Given the description of an element on the screen output the (x, y) to click on. 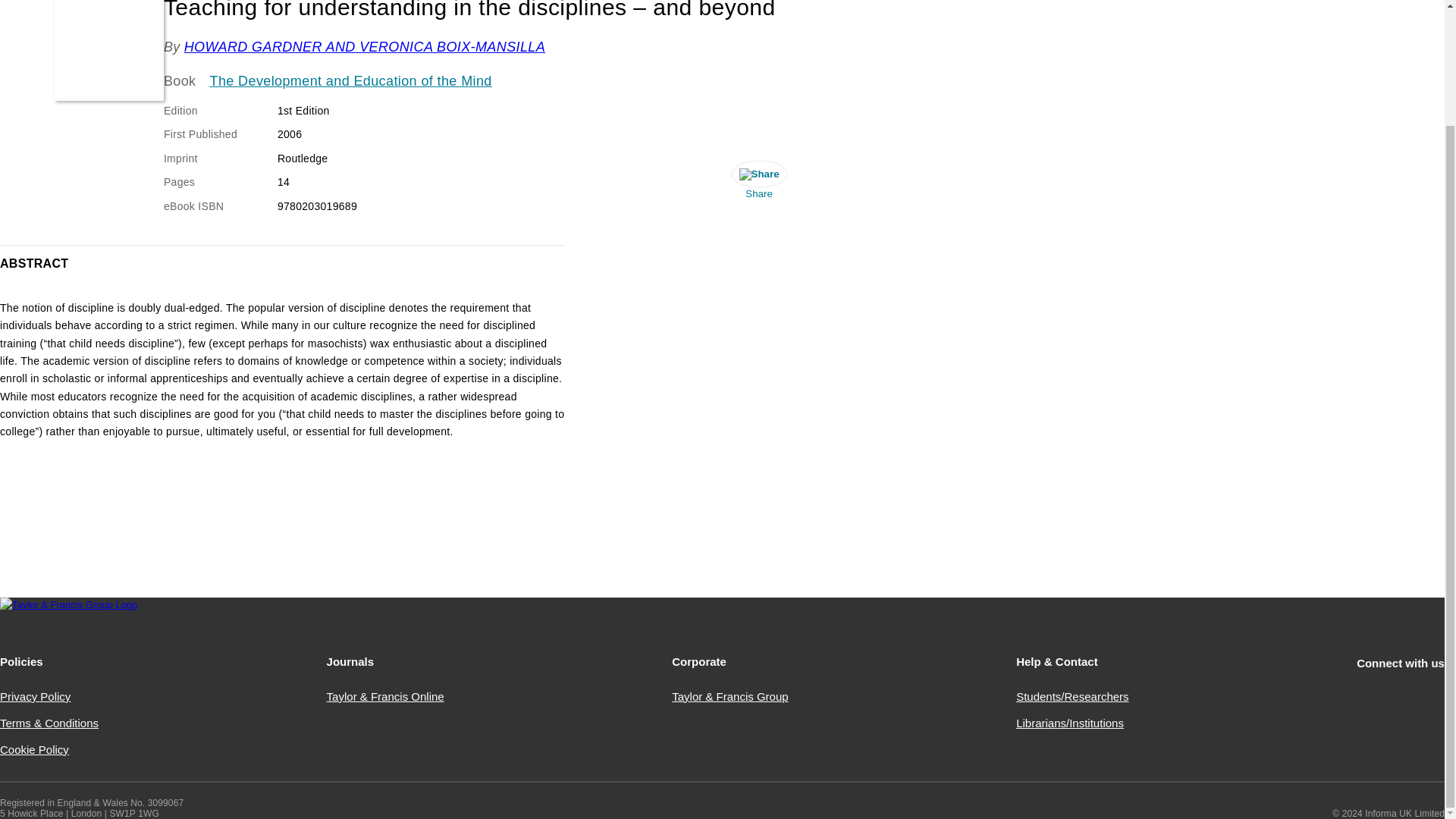
Privacy Policy (34, 696)
Cookie Policy (34, 749)
Share (759, 183)
HOWARD GARDNER AND VERONICA BOIX-MANSILLA (364, 46)
The Development and Education of the Mind (350, 81)
